Given the description of an element on the screen output the (x, y) to click on. 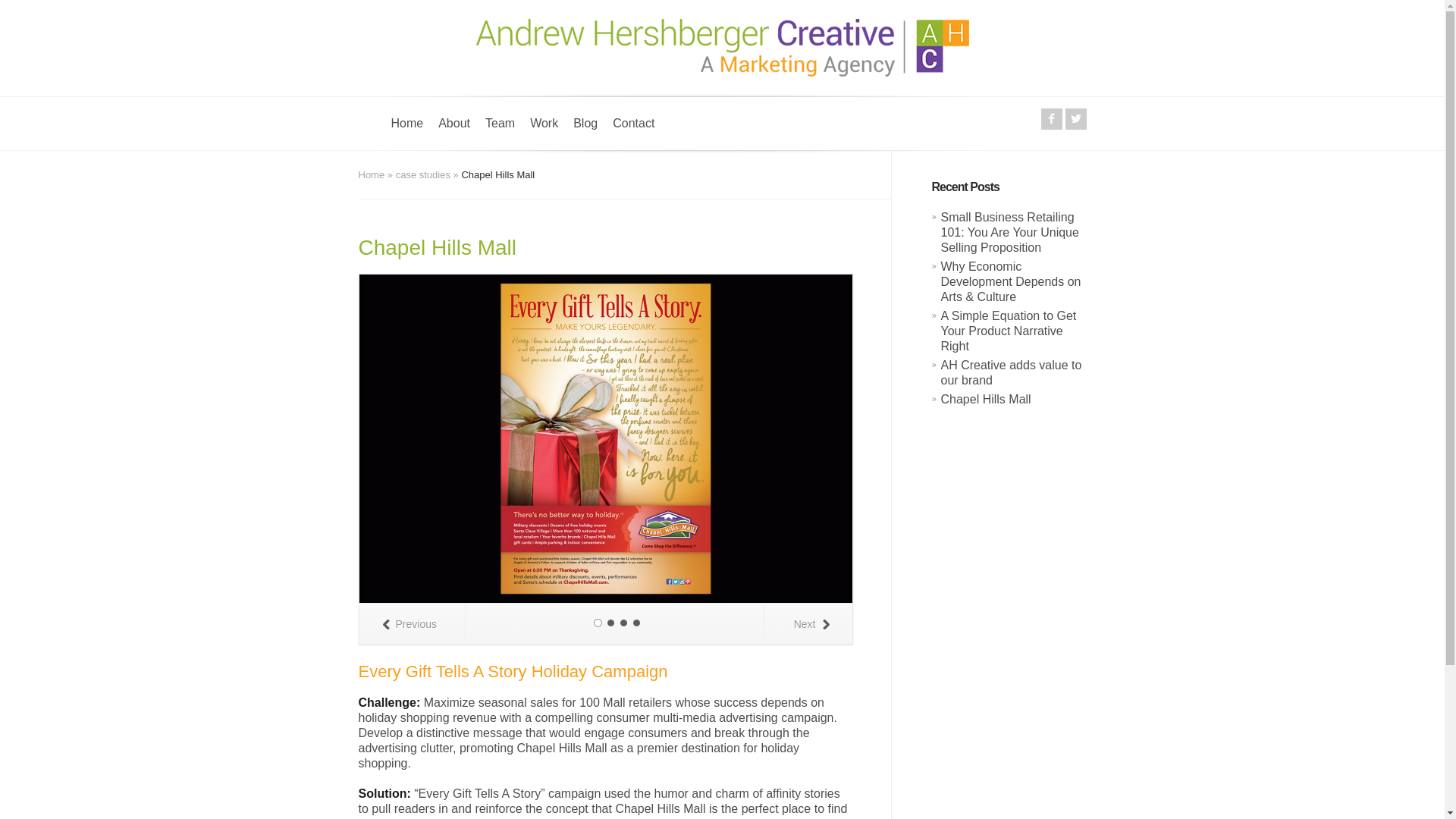
Contact (633, 132)
Team (499, 132)
A Simple Equation to Get Your Product Narrative Right (1007, 330)
Home (371, 174)
Next (807, 622)
Home (407, 132)
Chapel Hills Mall (985, 399)
Blog (585, 132)
Work (544, 132)
